Given the description of an element on the screen output the (x, y) to click on. 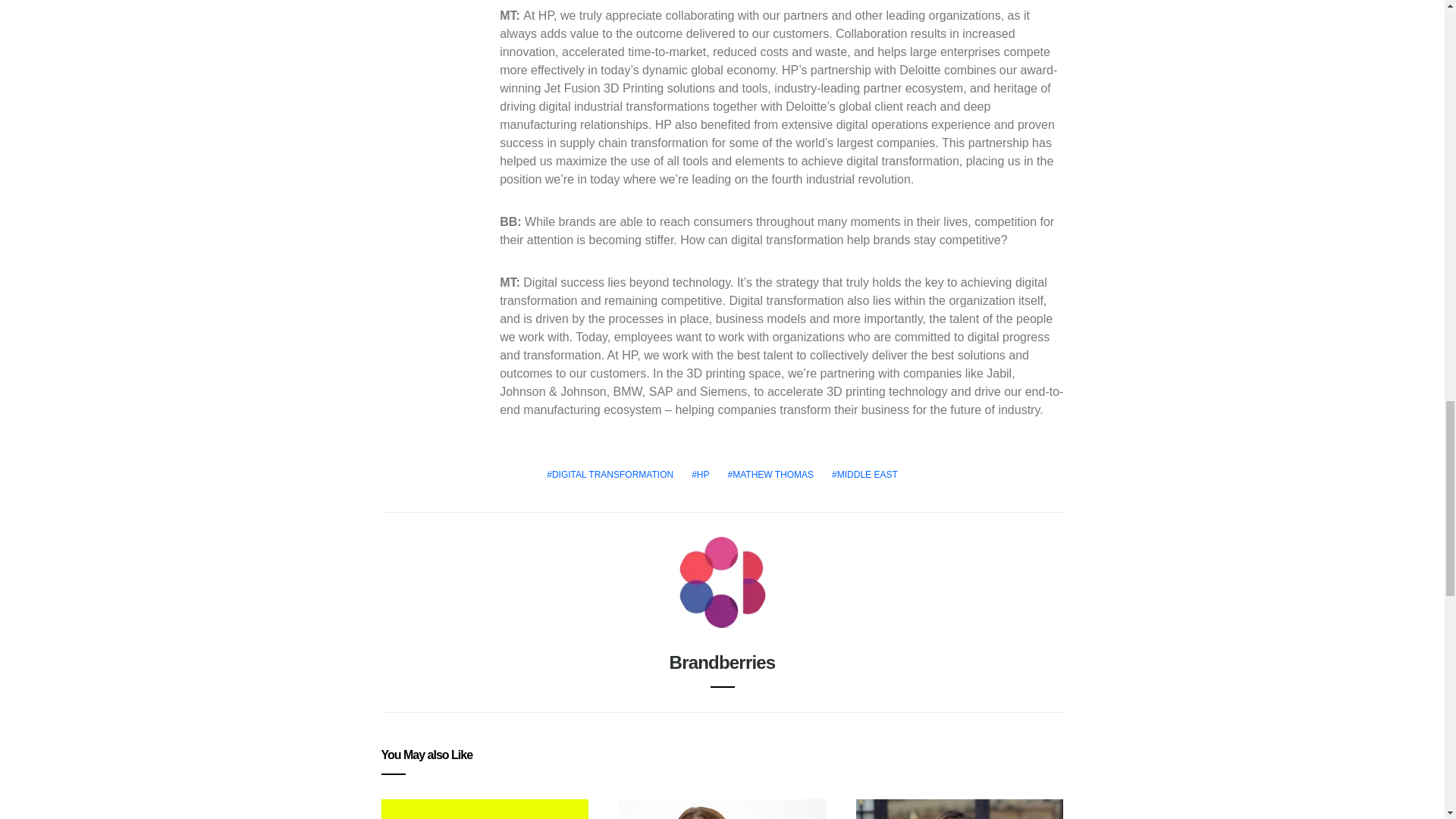
Brandberries (722, 661)
MIDDLE EAST (864, 474)
HP (699, 474)
MATHEW THOMAS (771, 474)
Posts by Brandberries (722, 661)
DIGITAL TRANSFORMATION (609, 474)
